Given the description of an element on the screen output the (x, y) to click on. 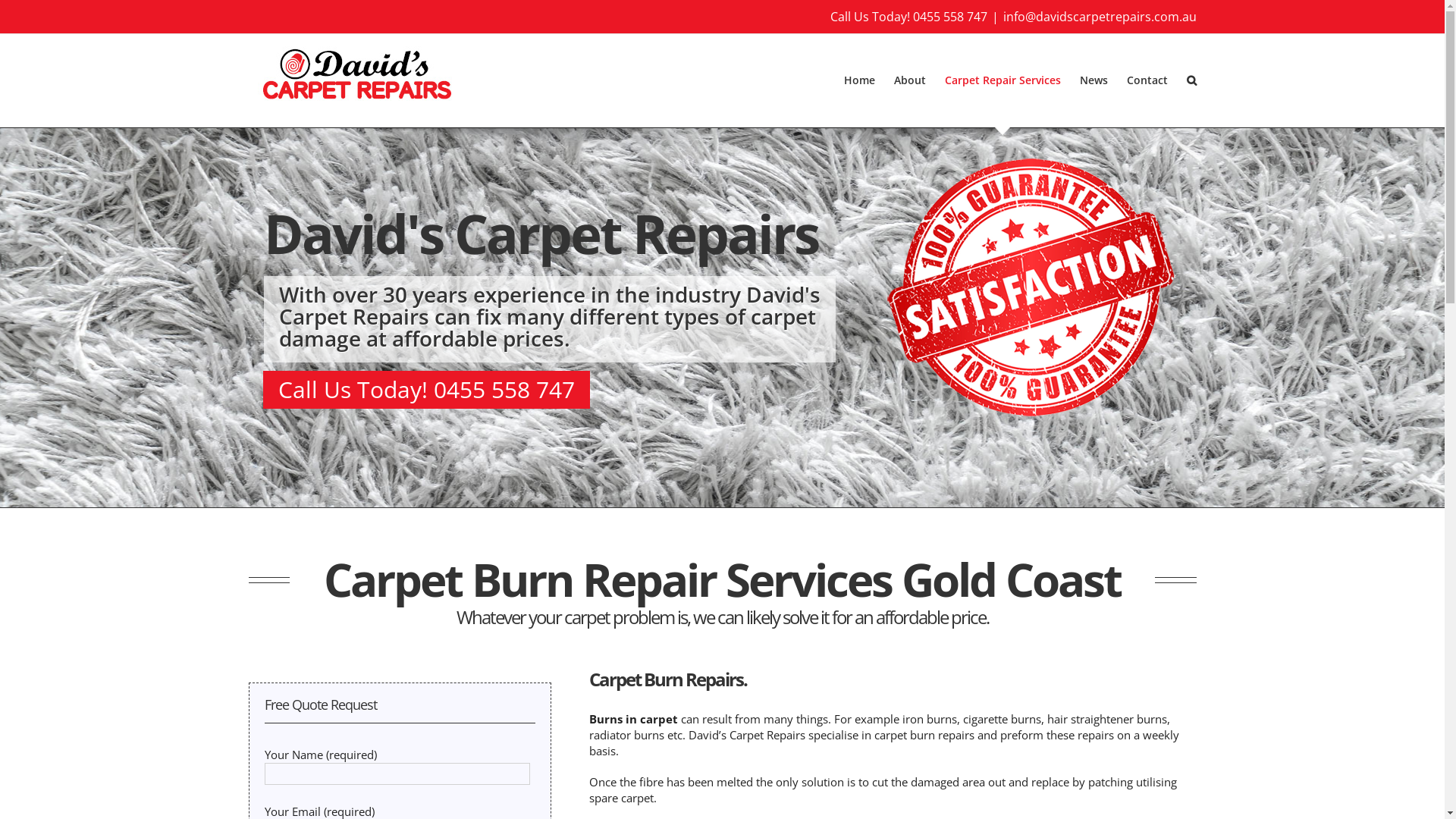
Home Element type: text (858, 80)
Search Element type: hover (1190, 80)
About Element type: text (909, 80)
Carpet Repair Services Element type: text (1002, 80)
0455 558 747 Element type: text (950, 16)
News Element type: text (1093, 80)
Contact Element type: text (1146, 80)
info@davidscarpetrepairs.com.au Element type: text (1098, 16)
